Given the description of an element on the screen output the (x, y) to click on. 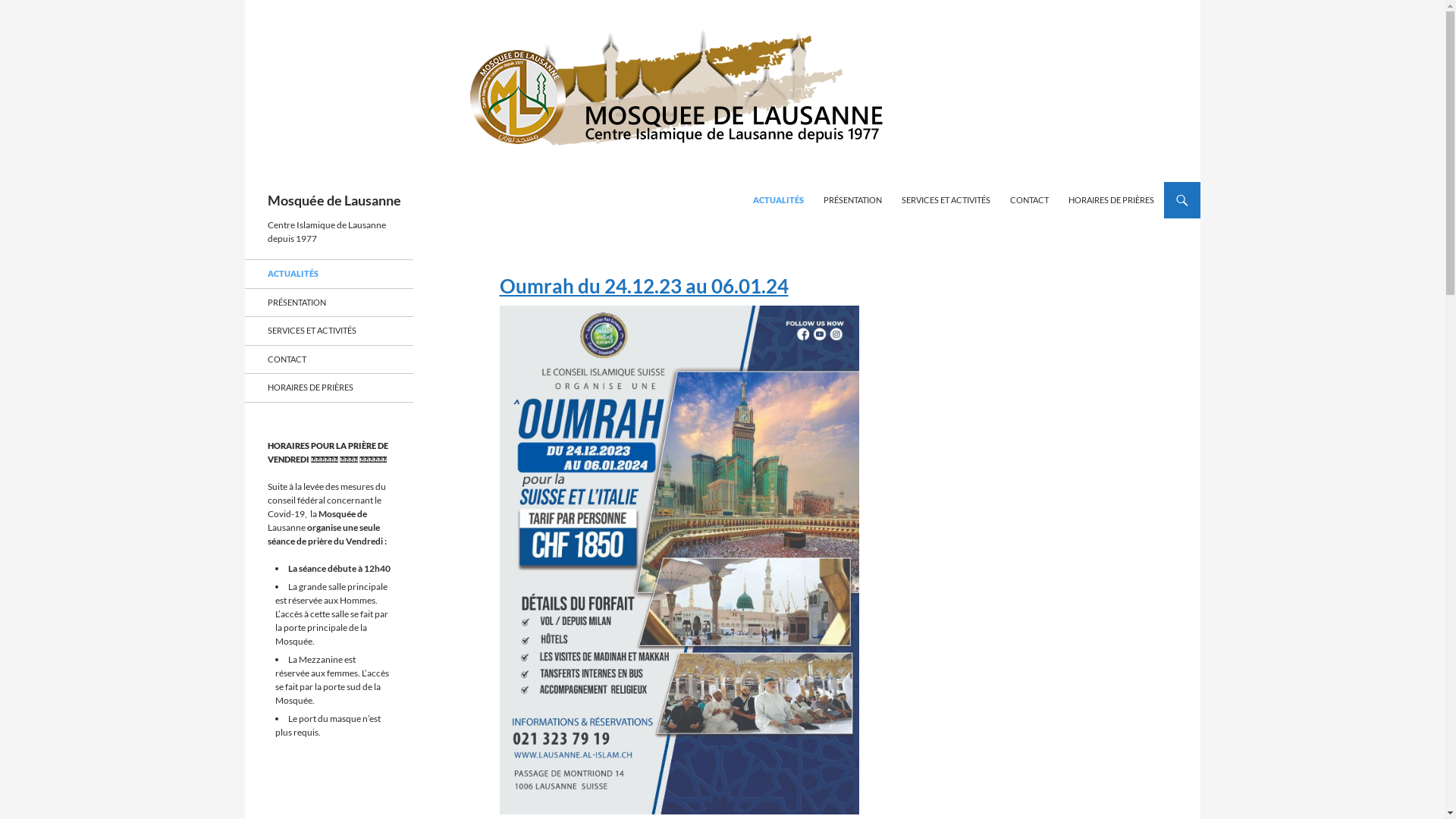
SKIP TO CONTENT Element type: text (752, 181)
CONTACT Element type: text (1029, 200)
Oumrah du 24.12.23 au 06.01.24 Element type: text (678, 543)
Search Element type: text (247, 181)
CONTACT Element type: text (328, 359)
